Given the description of an element on the screen output the (x, y) to click on. 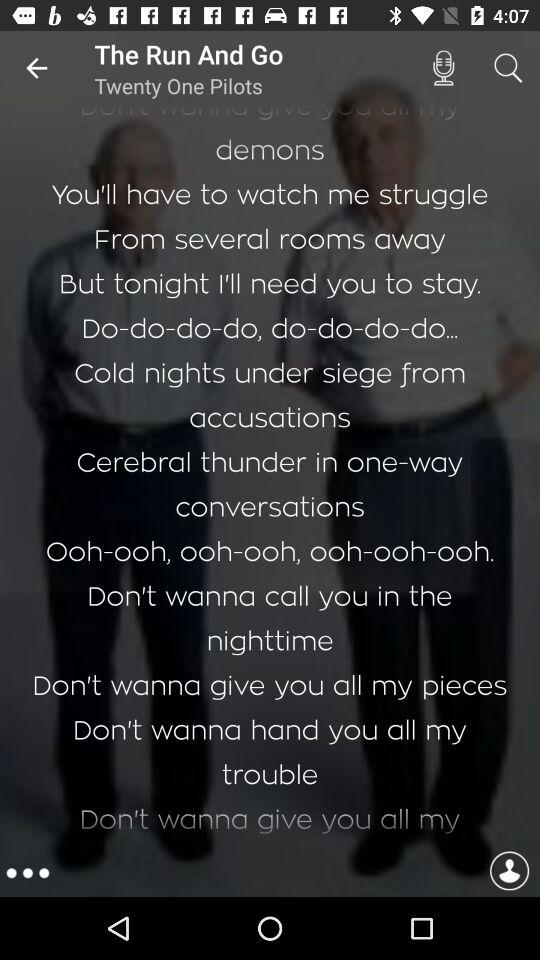
turn off the item to the left of the run and (36, 68)
